Given the description of an element on the screen output the (x, y) to click on. 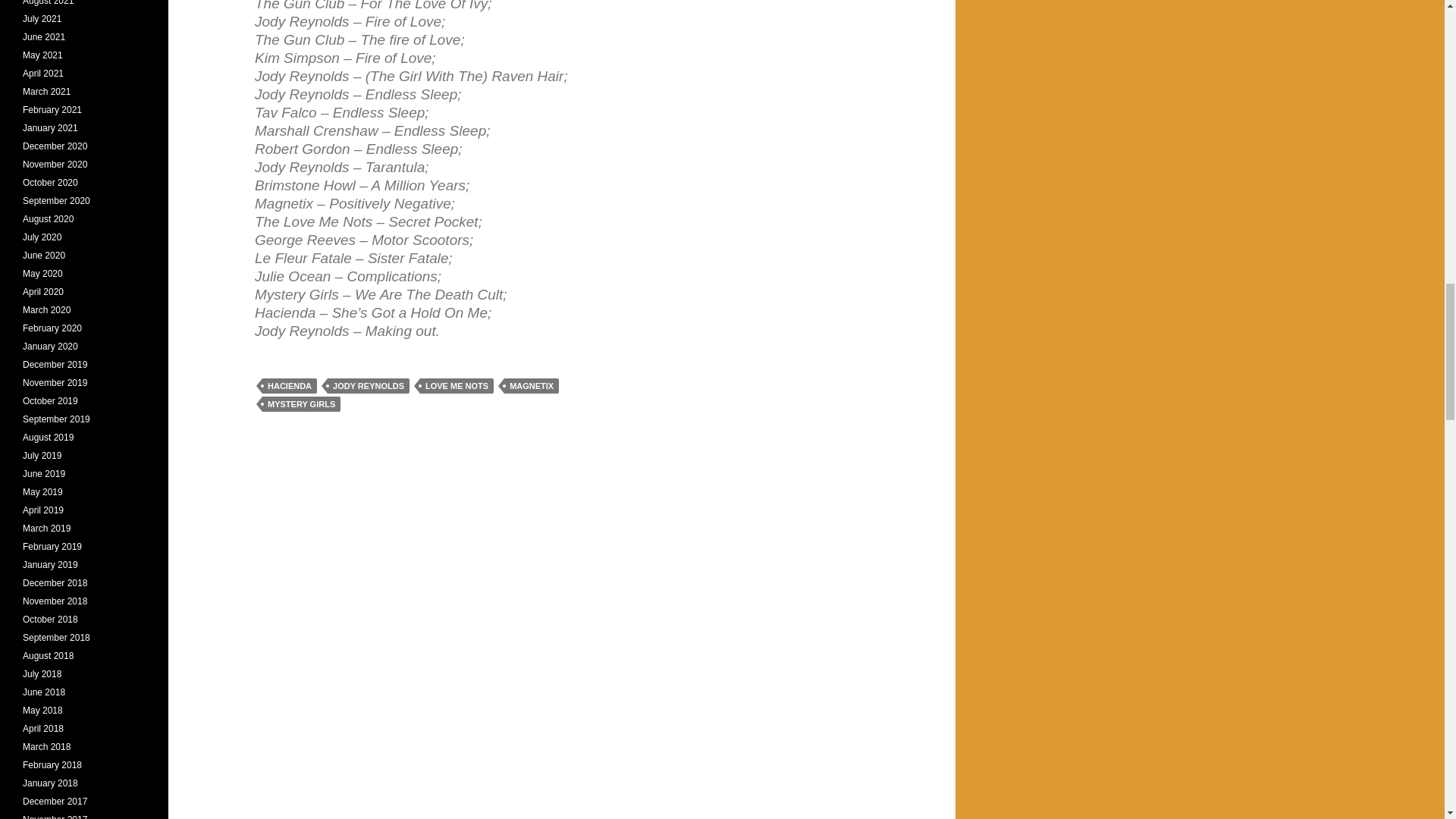
HACIENDA (289, 385)
JODY REYNOLDS (368, 385)
LOVE ME NOTS (456, 385)
MYSTERY GIRLS (301, 403)
MAGNETIX (531, 385)
